Given the description of an element on the screen output the (x, y) to click on. 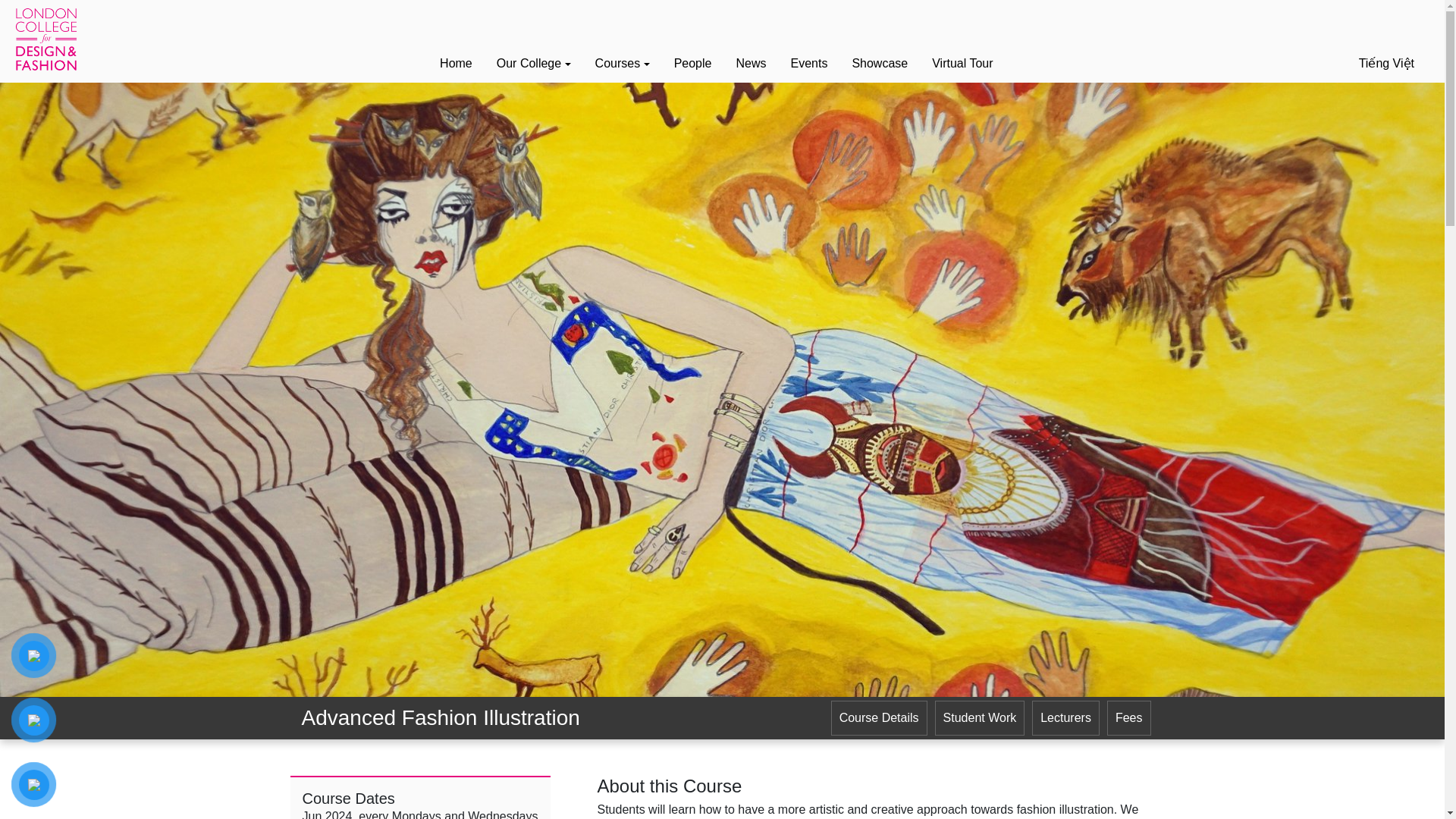
Student Work (980, 717)
Home (456, 60)
Events (808, 60)
Course Details (879, 717)
Courses (622, 60)
Fees (1128, 717)
Lecturers (1065, 717)
News (750, 60)
People (692, 60)
Our College (533, 60)
